Given the description of an element on the screen output the (x, y) to click on. 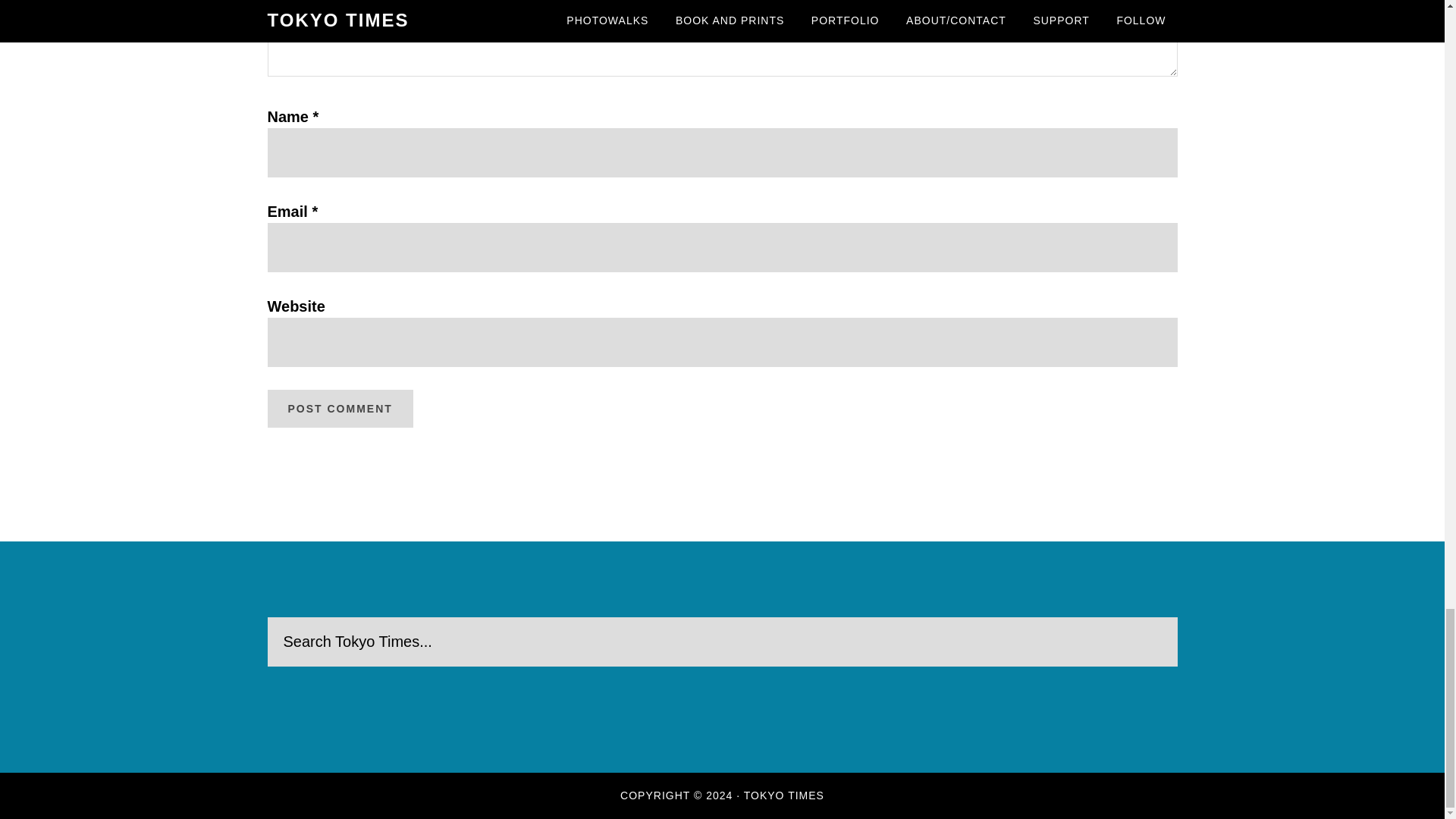
Post Comment (339, 408)
Post Comment (339, 408)
TOKYO TIMES (784, 795)
